Given the description of an element on the screen output the (x, y) to click on. 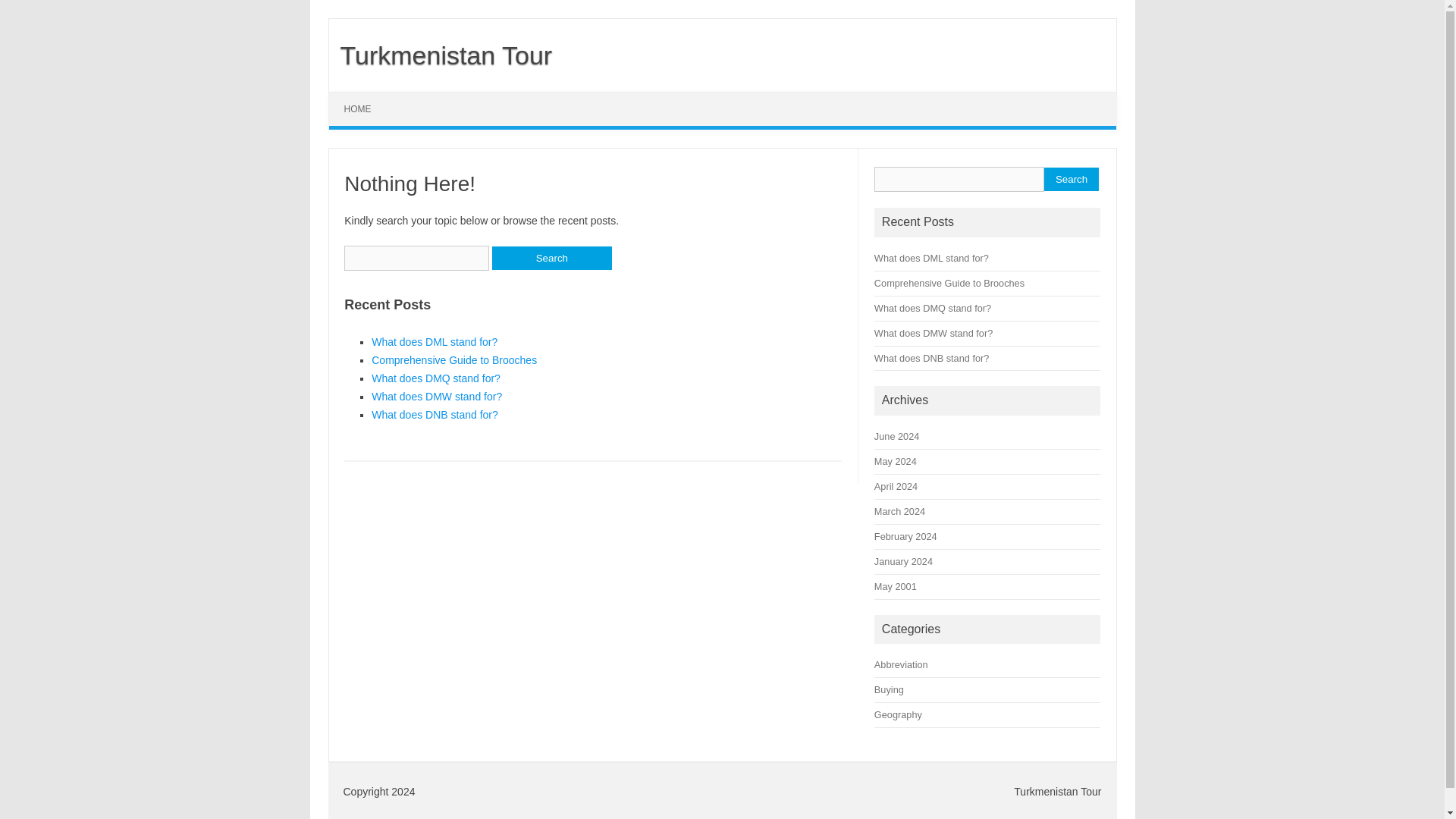
Search (551, 258)
Turkmenistan Tour (441, 54)
What does DNB stand for? (434, 414)
May 2001 (896, 586)
May 2024 (896, 460)
What does DMQ stand for? (435, 378)
Search (551, 258)
Comprehensive Guide to Brooches (950, 283)
Search (1070, 178)
Skip to content (363, 96)
